Given the description of an element on the screen output the (x, y) to click on. 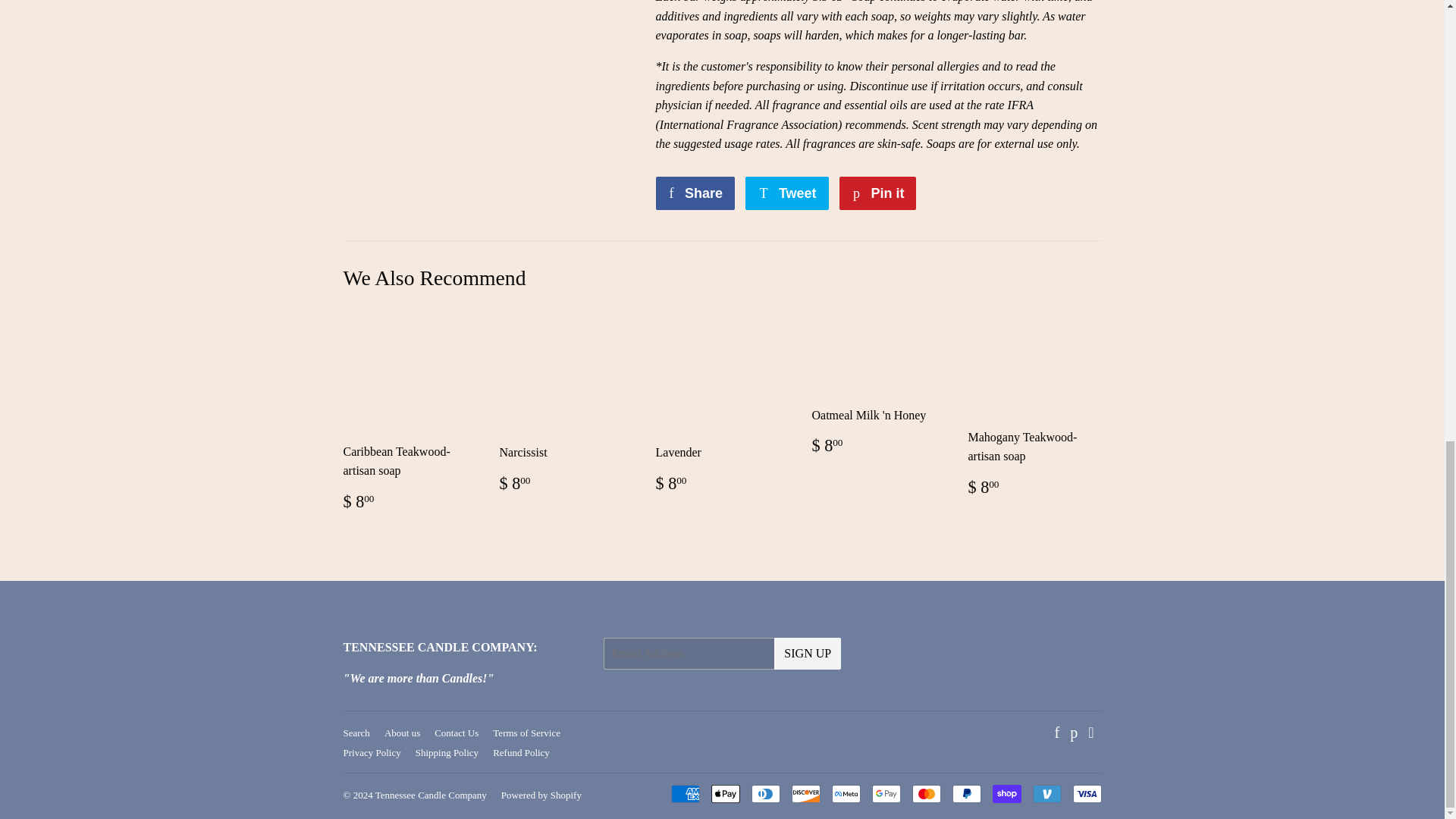
Shop Pay (1005, 793)
PayPal (966, 793)
Google Pay (886, 793)
Apple Pay (725, 793)
Share on Facebook (694, 192)
Meta Pay (845, 793)
Visa (1085, 793)
Venmo (1046, 793)
Pin on Pinterest (877, 192)
Discover (806, 793)
